Given the description of an element on the screen output the (x, y) to click on. 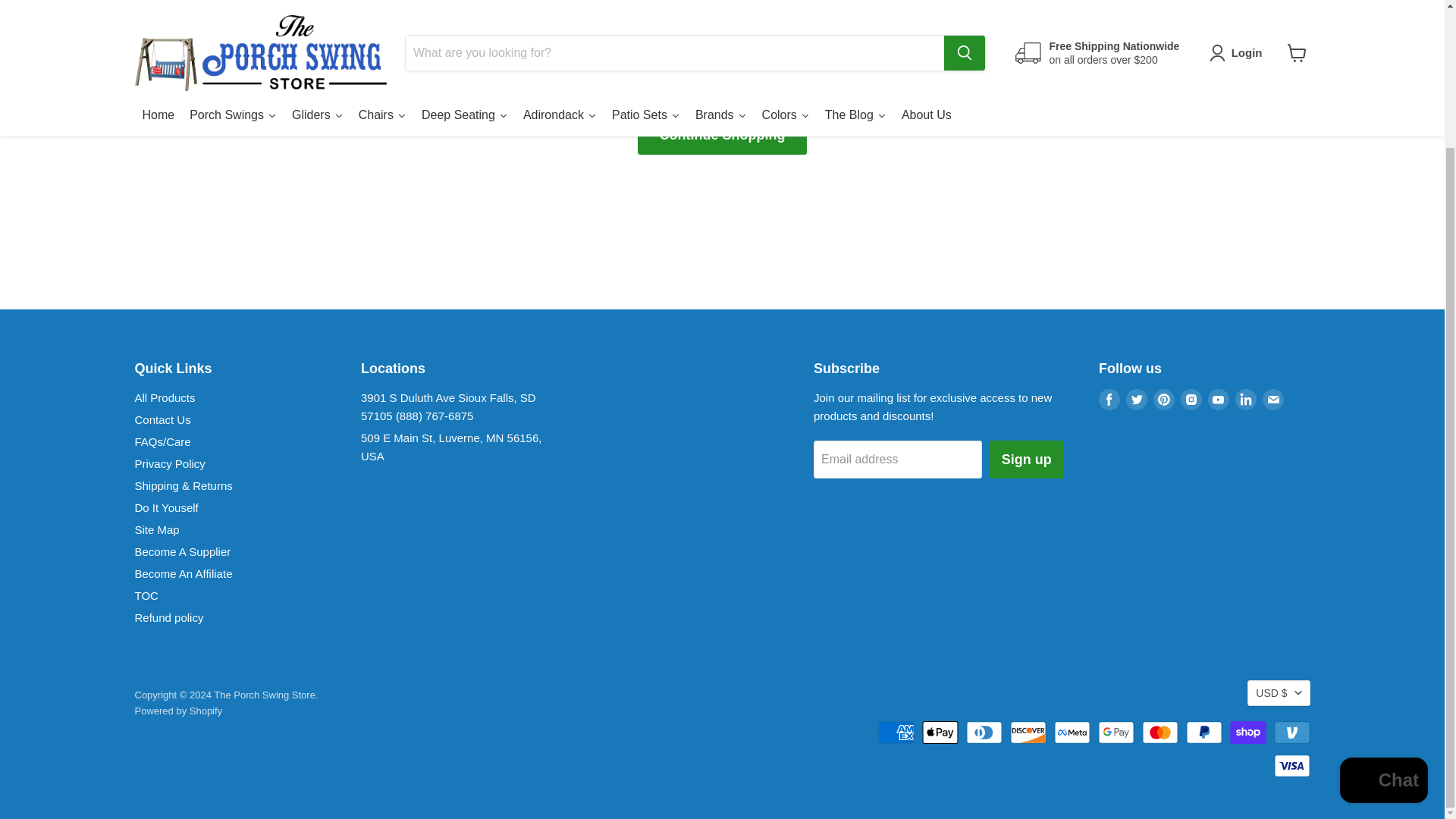
Privacy Policy (170, 463)
Contact Us (162, 419)
Continue Shopping (722, 135)
All Products (165, 397)
